Given the description of an element on the screen output the (x, y) to click on. 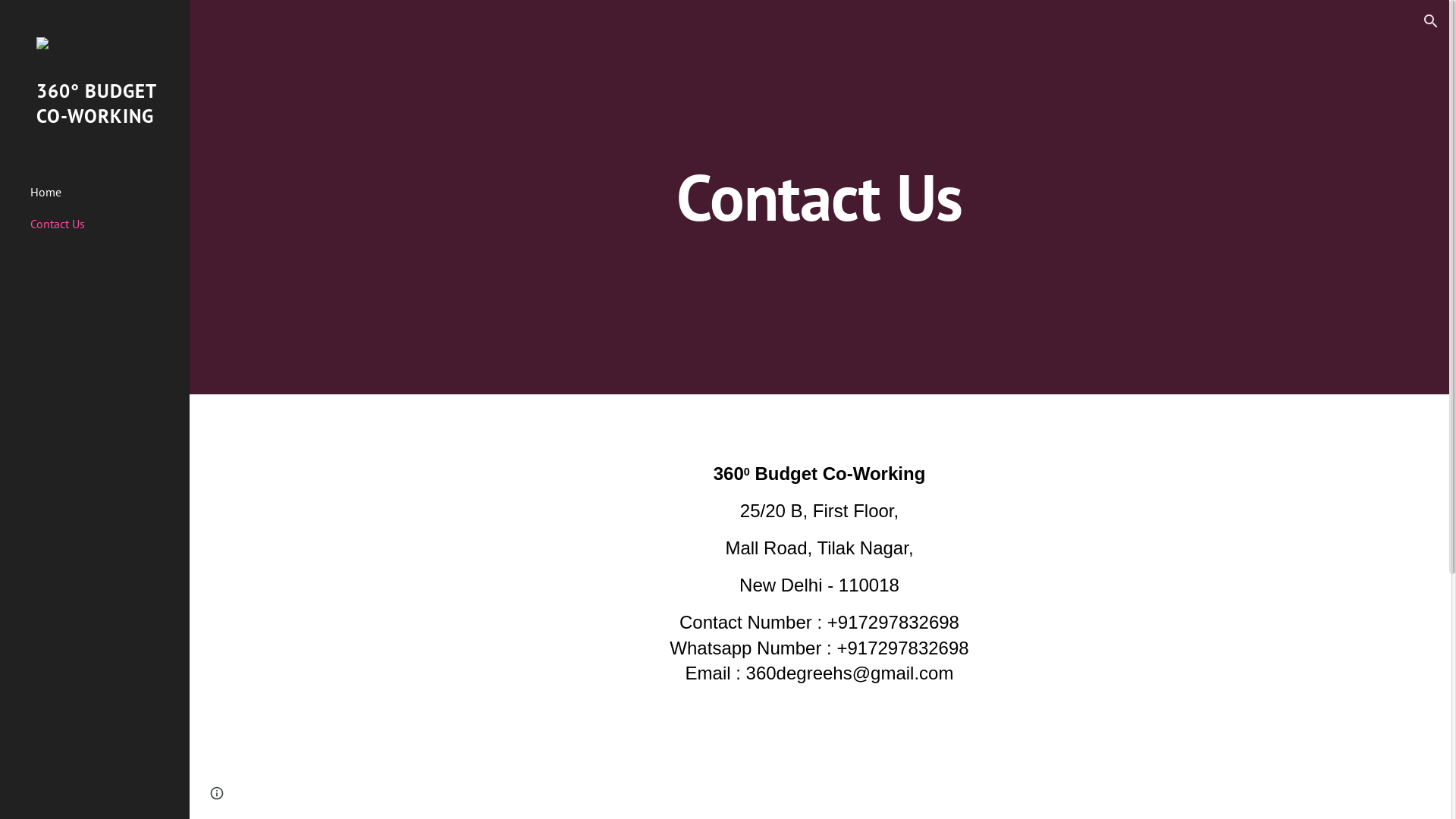
Home Element type: text (103, 191)
Contact Us Element type: text (103, 224)
